Given the description of an element on the screen output the (x, y) to click on. 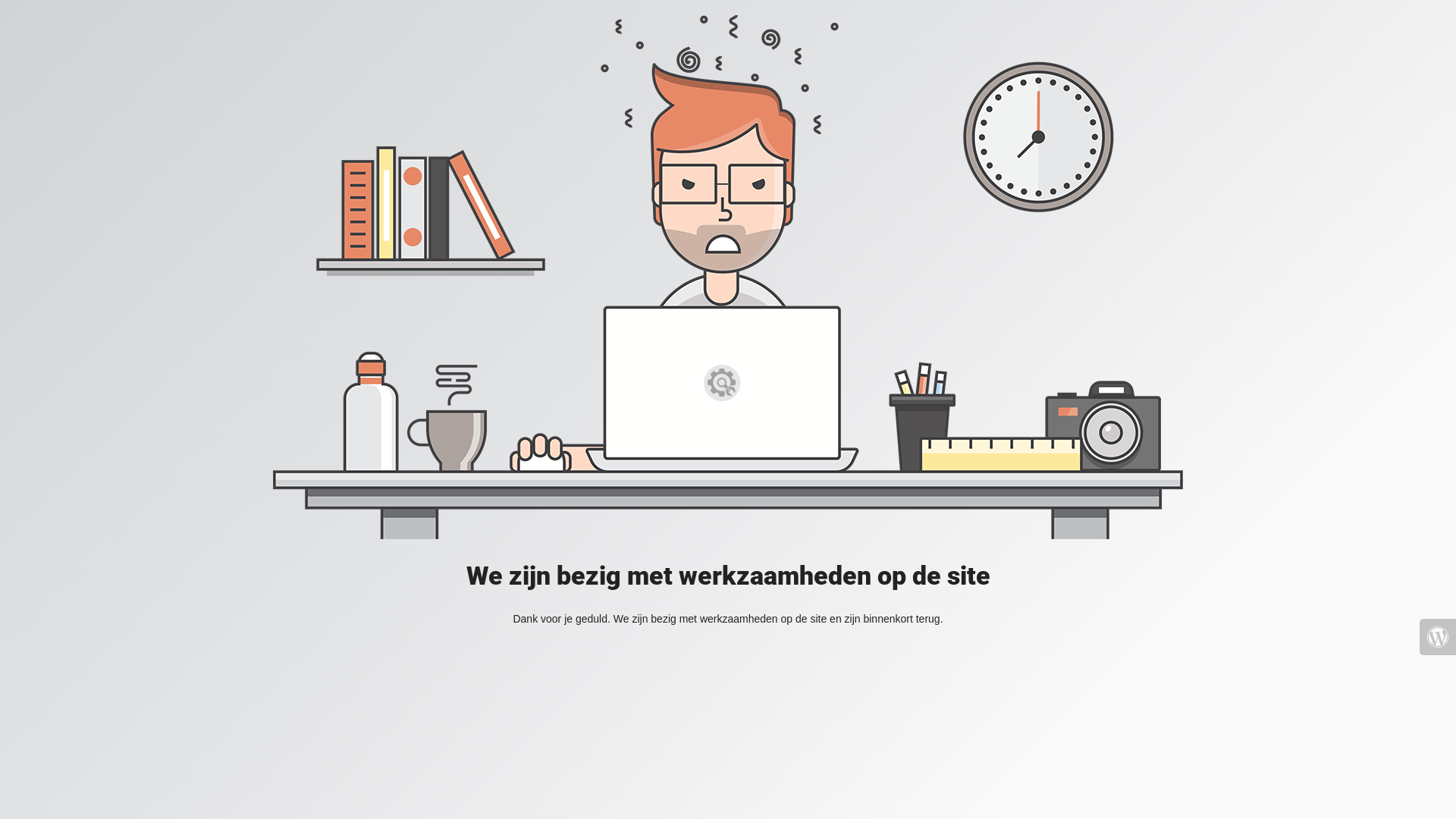
Mad Designer at work Element type: hover (728, 277)
